Given the description of an element on the screen output the (x, y) to click on. 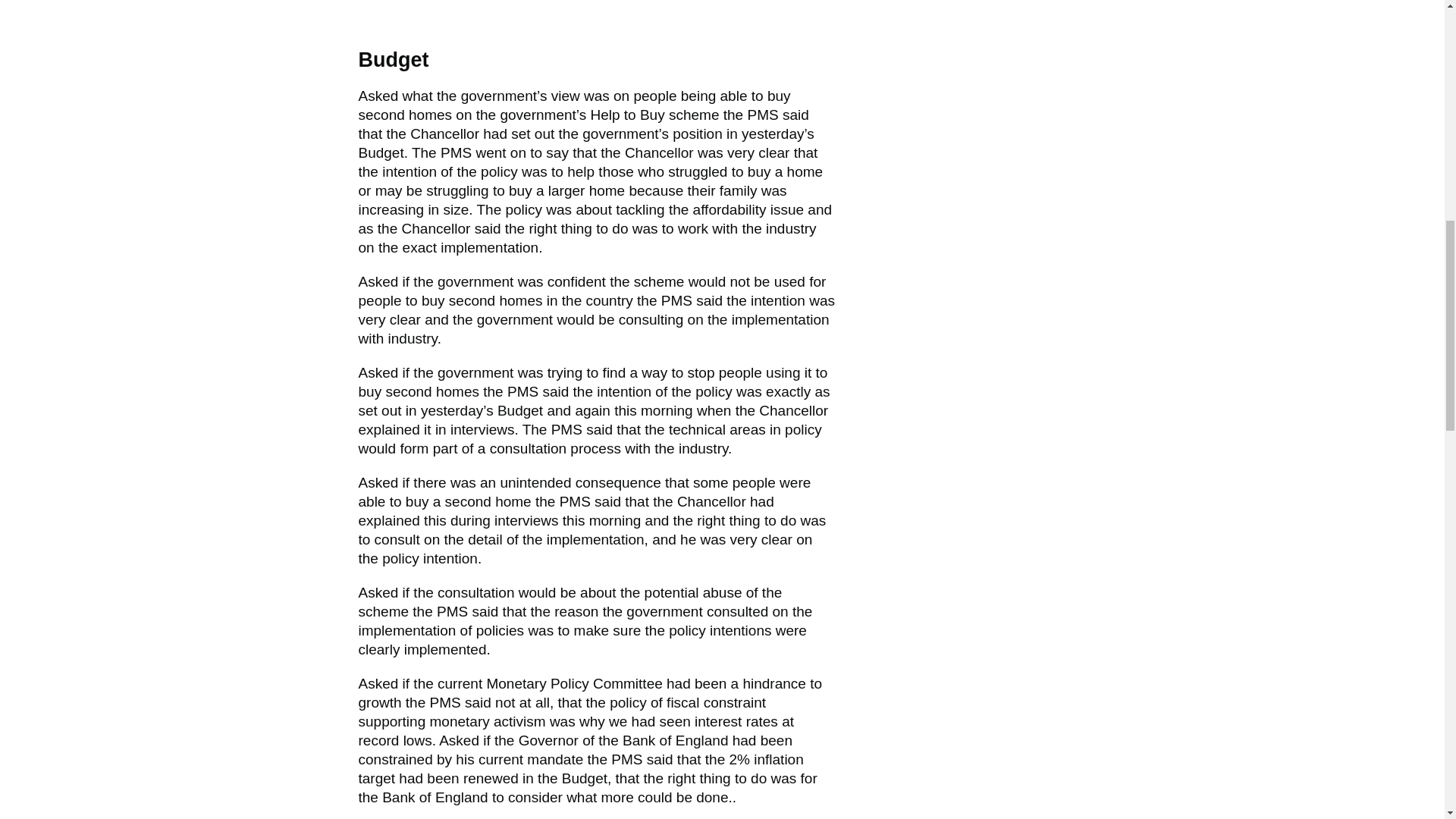
Prime Minister's Spokesperson (451, 611)
Prime Minister's Spokesperson (575, 501)
Prime Minister's Spokesperson (456, 152)
Prime Minister's Spokesperson (566, 429)
Prime Minister's Spokesperson (522, 391)
Prime Minister's Spokesperson (444, 702)
Prime Minister's Spokesperson (677, 300)
Prime Minister's Spokesperson (626, 759)
Prime Minister's Spokesperson (761, 114)
